Given the description of an element on the screen output the (x, y) to click on. 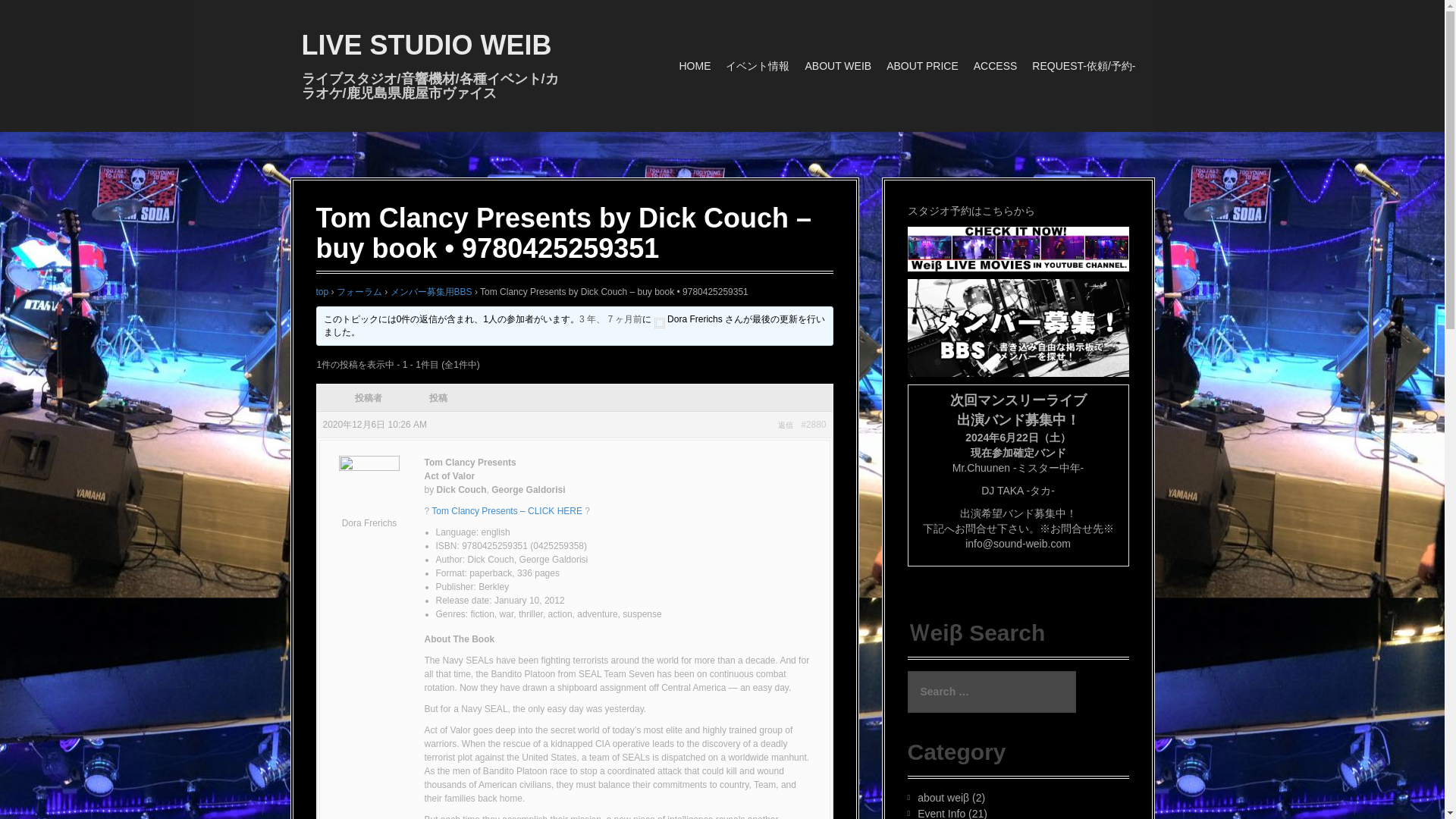
top (322, 291)
HOME (694, 66)
Event Info (941, 813)
ABOUT PRICE (922, 66)
Search for: (991, 691)
ACCESS (995, 66)
